Given the description of an element on the screen output the (x, y) to click on. 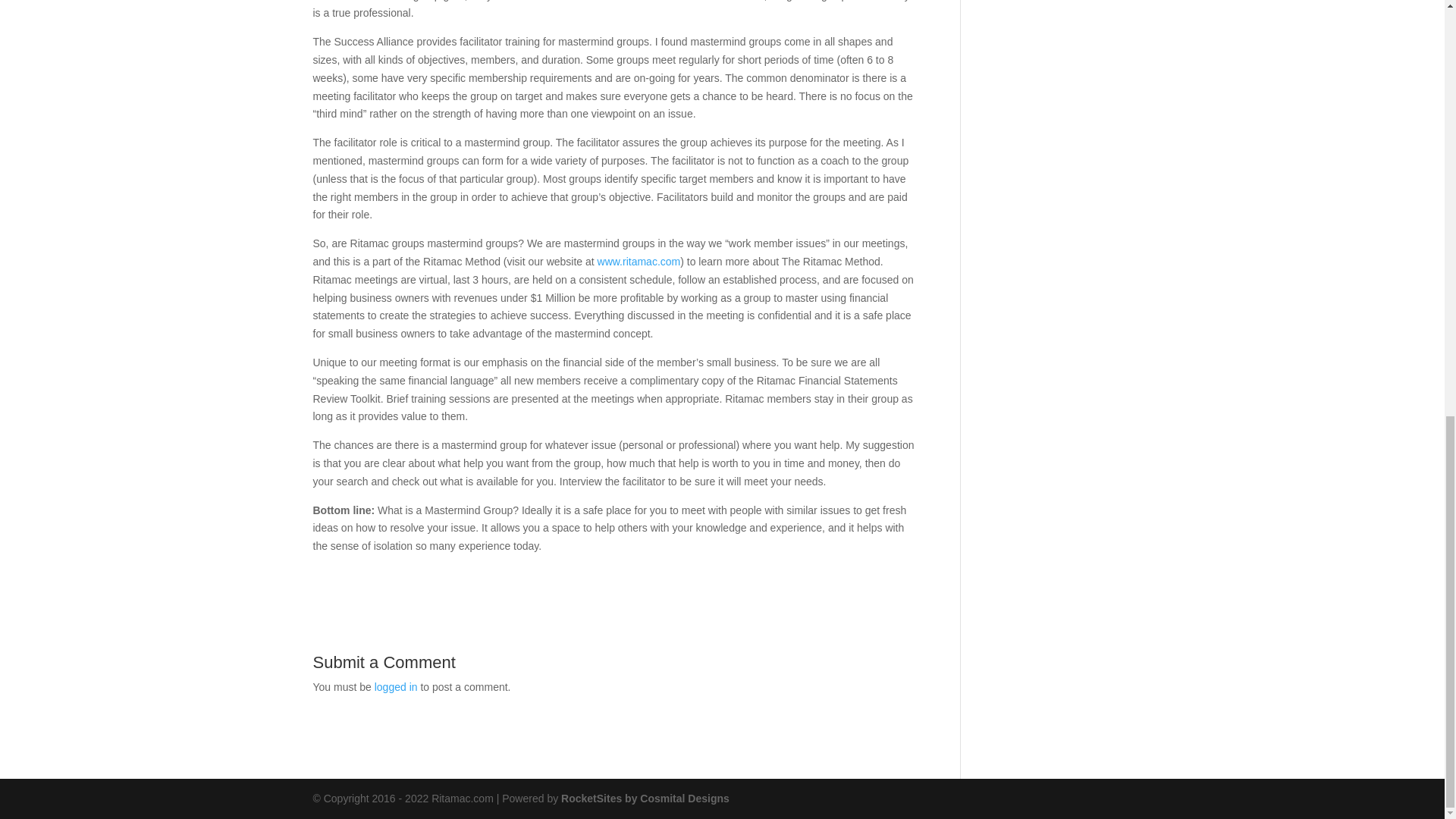
www.ritamac.com (638, 261)
logged in (395, 686)
RocketSites by Cosmital Designs (644, 798)
